Given the description of an element on the screen output the (x, y) to click on. 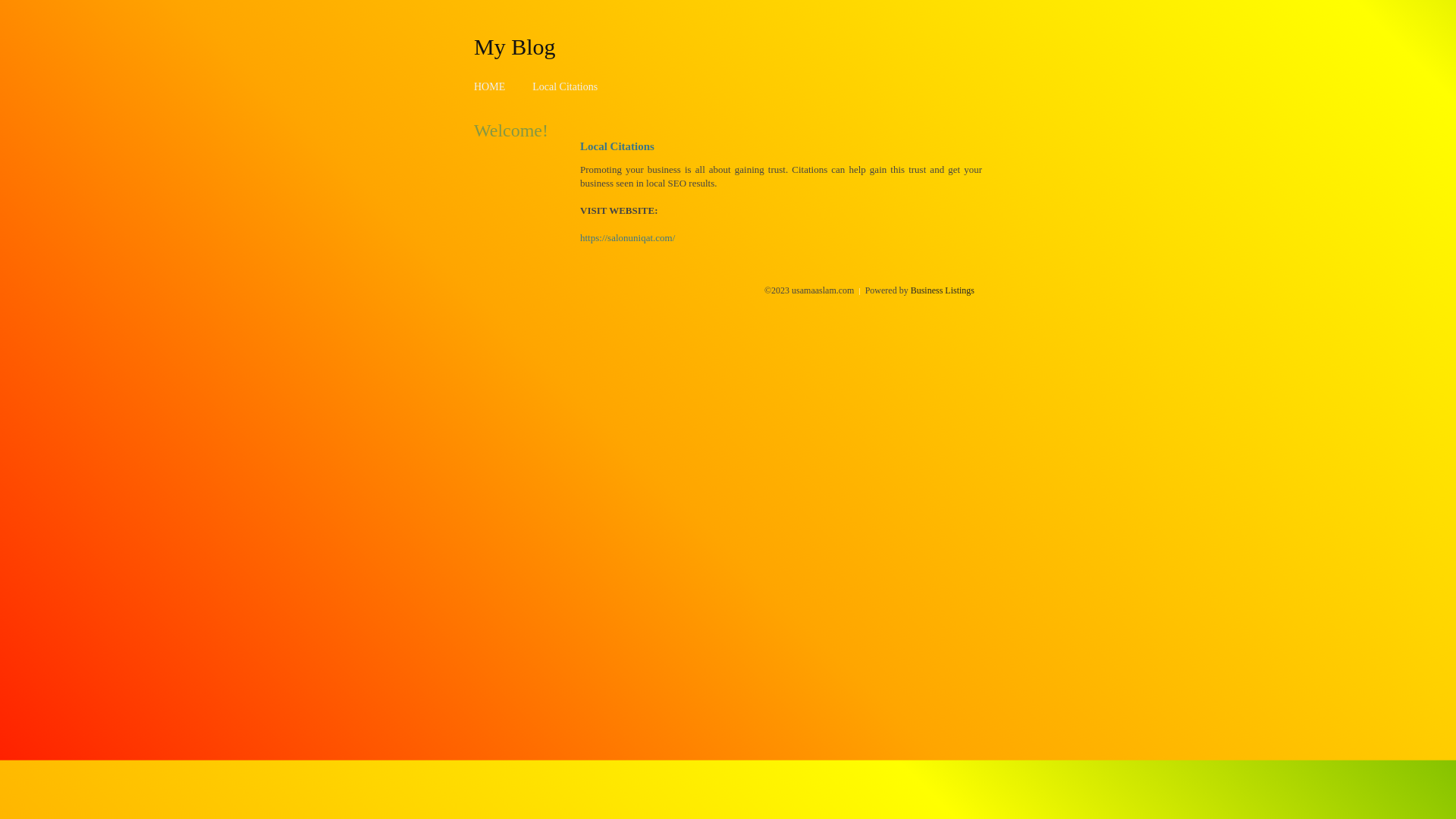
https://salonuniqat.com/ Element type: text (627, 237)
Local Citations Element type: text (564, 86)
HOME Element type: text (489, 86)
My Blog Element type: text (514, 46)
Business Listings Element type: text (942, 290)
